Given the description of an element on the screen output the (x, y) to click on. 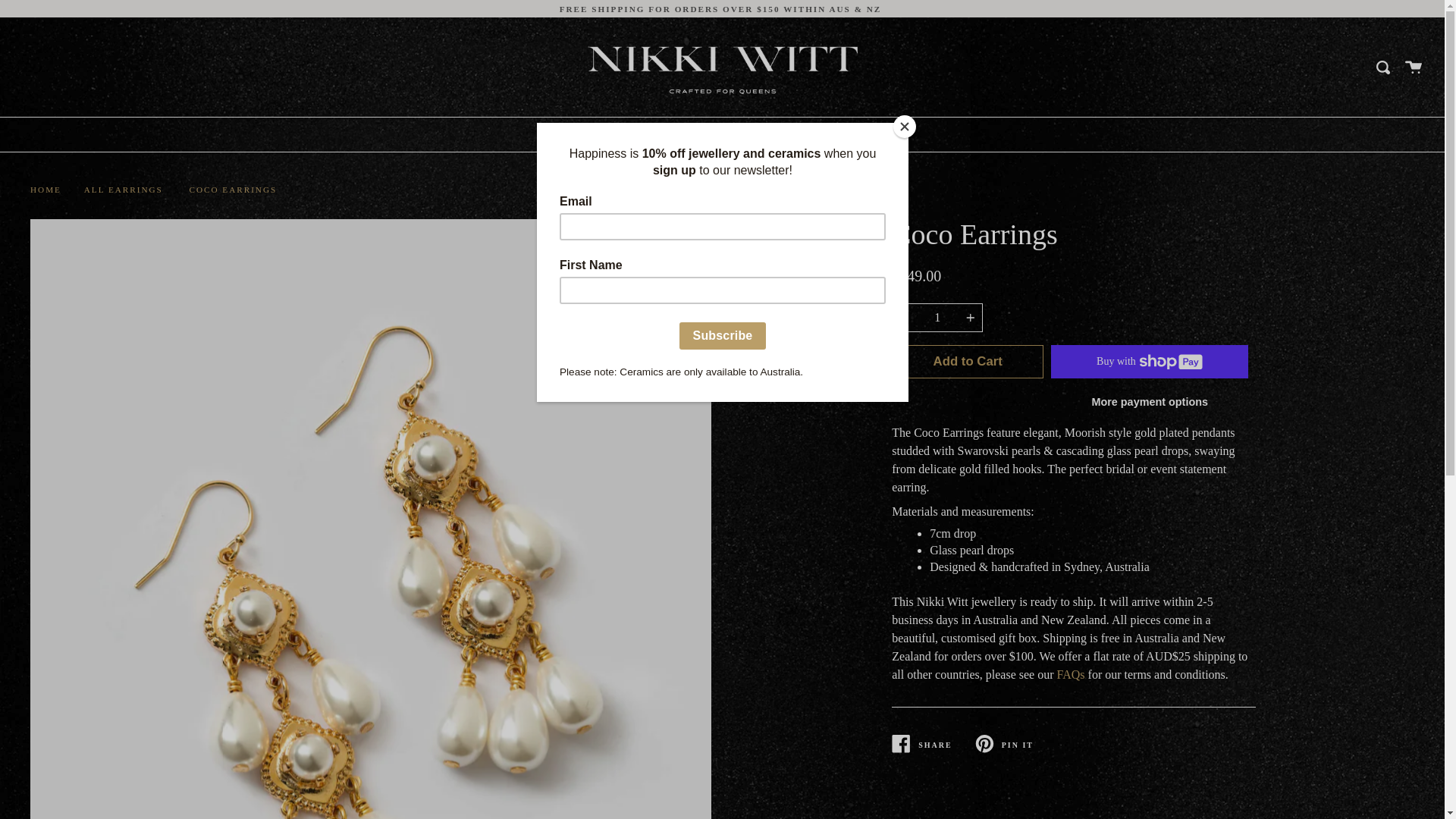
Home Element type: text (607, 134)
COCO EARRINGS Element type: text (232, 189)
HOME Element type: text (45, 189)
SHARE
SHARE ON FACEBOOK Element type: text (932, 743)
PIN IT
PIN ON PINTEREST Element type: text (1015, 743)
Cart Element type: text (1413, 66)
About Element type: text (843, 134)
Ceramics Element type: text (764, 134)
Shop Element type: text (682, 134)
Add to Cart Element type: text (967, 361)
FAQs Element type: text (1071, 674)
More payment options Element type: text (1149, 402)
Search Element type: text (1383, 66)
ALL EARRINGS Element type: text (123, 189)
